Given the description of an element on the screen output the (x, y) to click on. 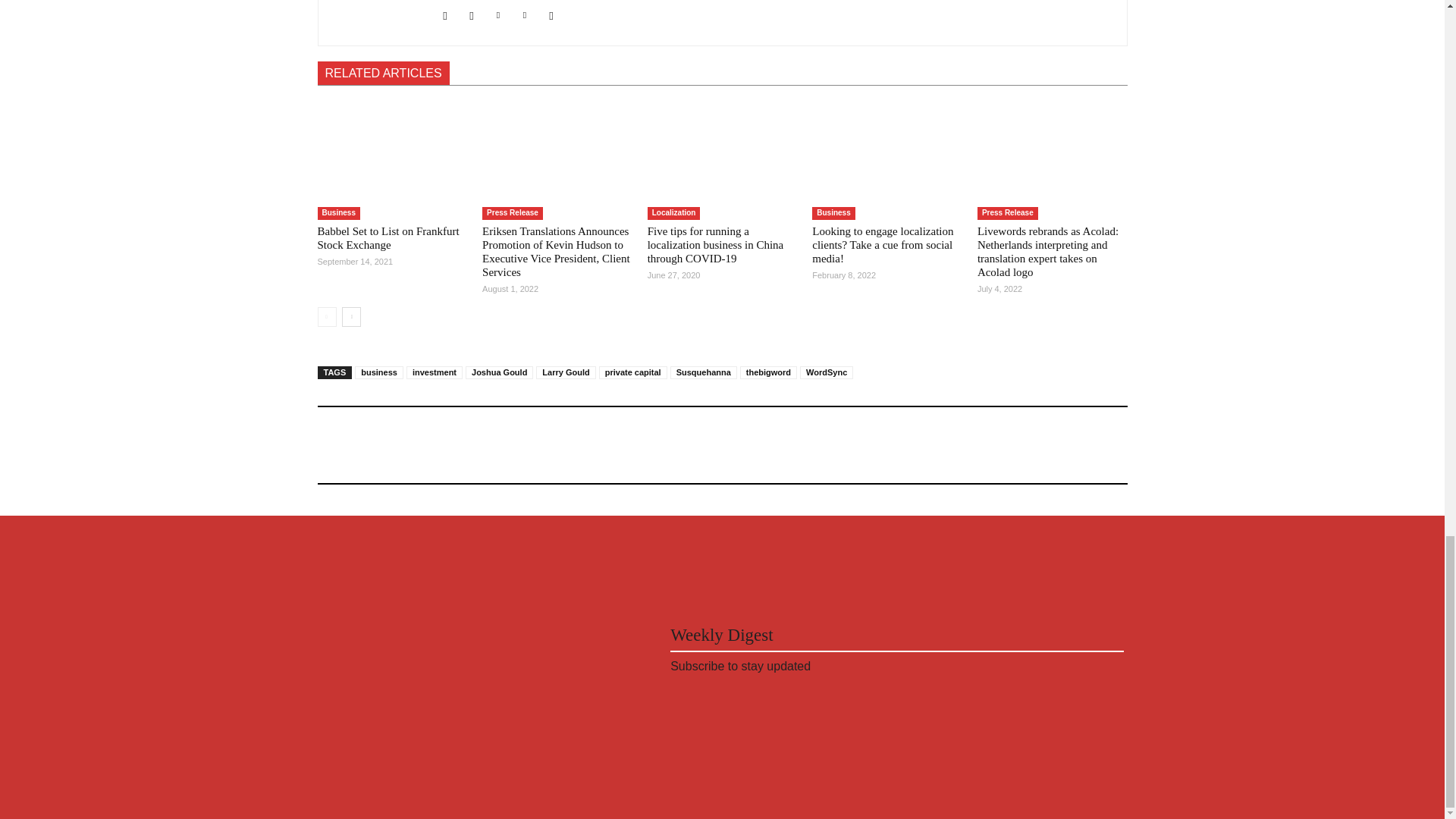
linkedin (498, 12)
instagram (471, 12)
facebook (445, 12)
